Given the description of an element on the screen output the (x, y) to click on. 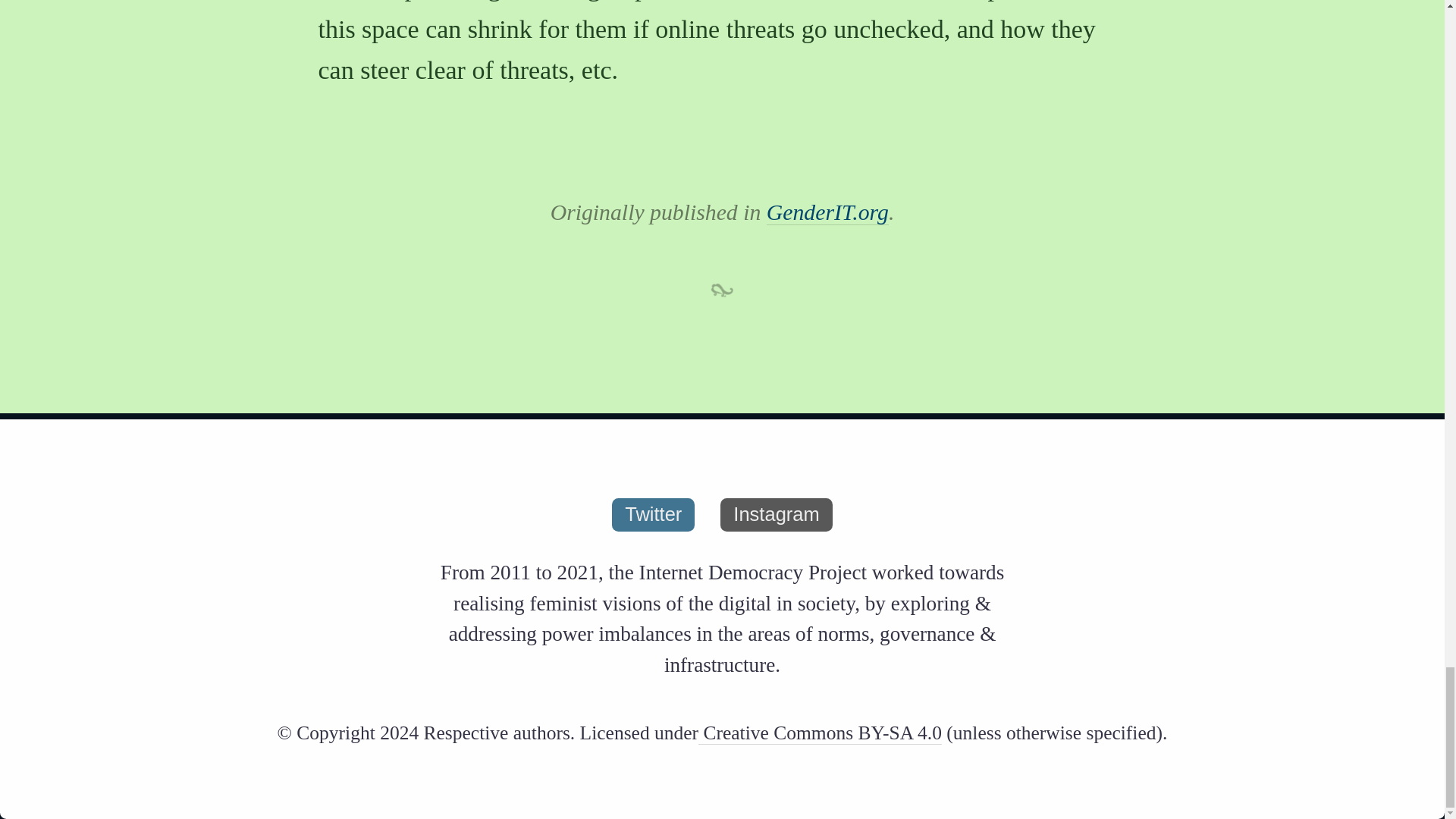
Creative Commons BY-SA 4.0 (820, 732)
Twitter (652, 514)
GenderIT.org (827, 212)
Instagram (775, 514)
